Given the description of an element on the screen output the (x, y) to click on. 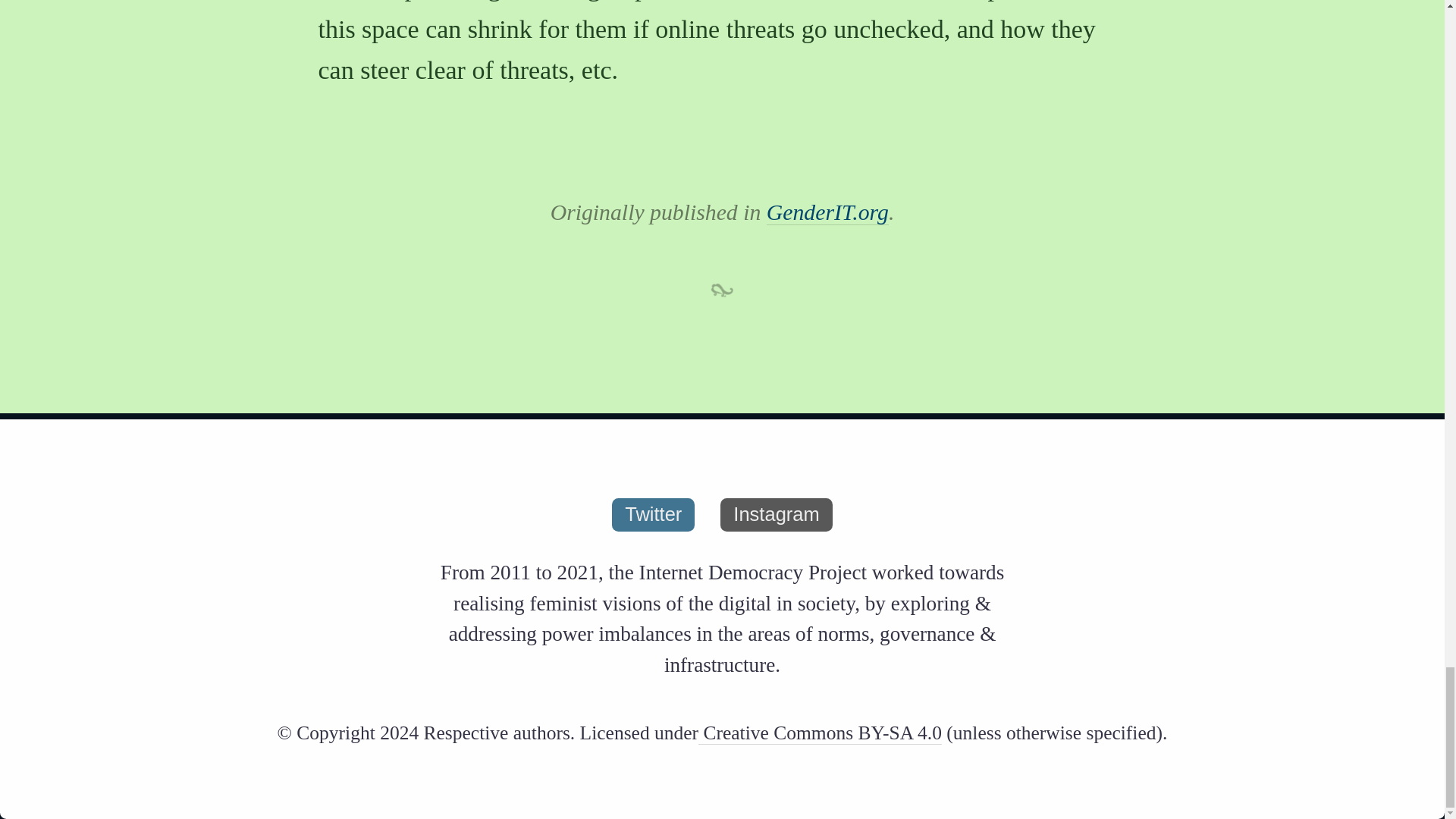
Creative Commons BY-SA 4.0 (820, 732)
Twitter (652, 514)
GenderIT.org (827, 212)
Instagram (775, 514)
